Given the description of an element on the screen output the (x, y) to click on. 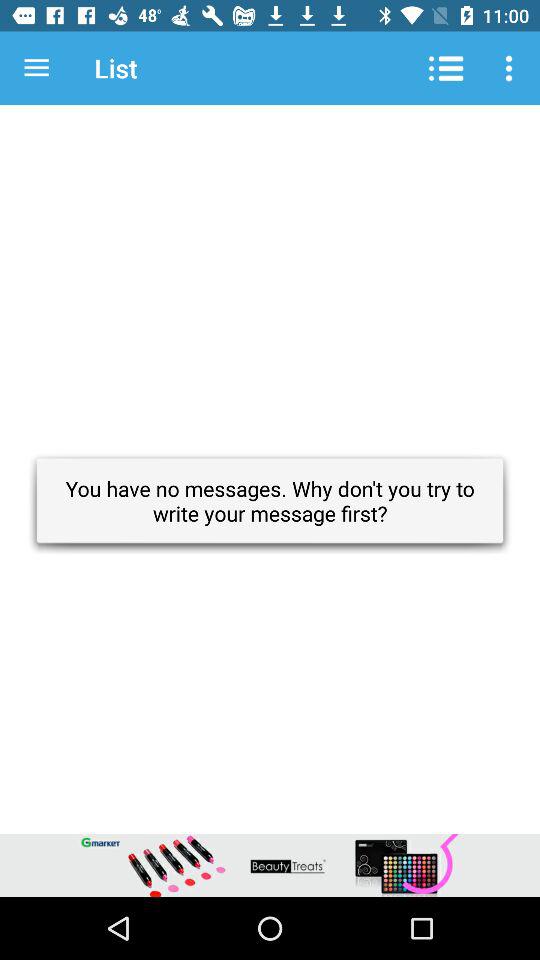
open you have no item (269, 500)
